Given the description of an element on the screen output the (x, y) to click on. 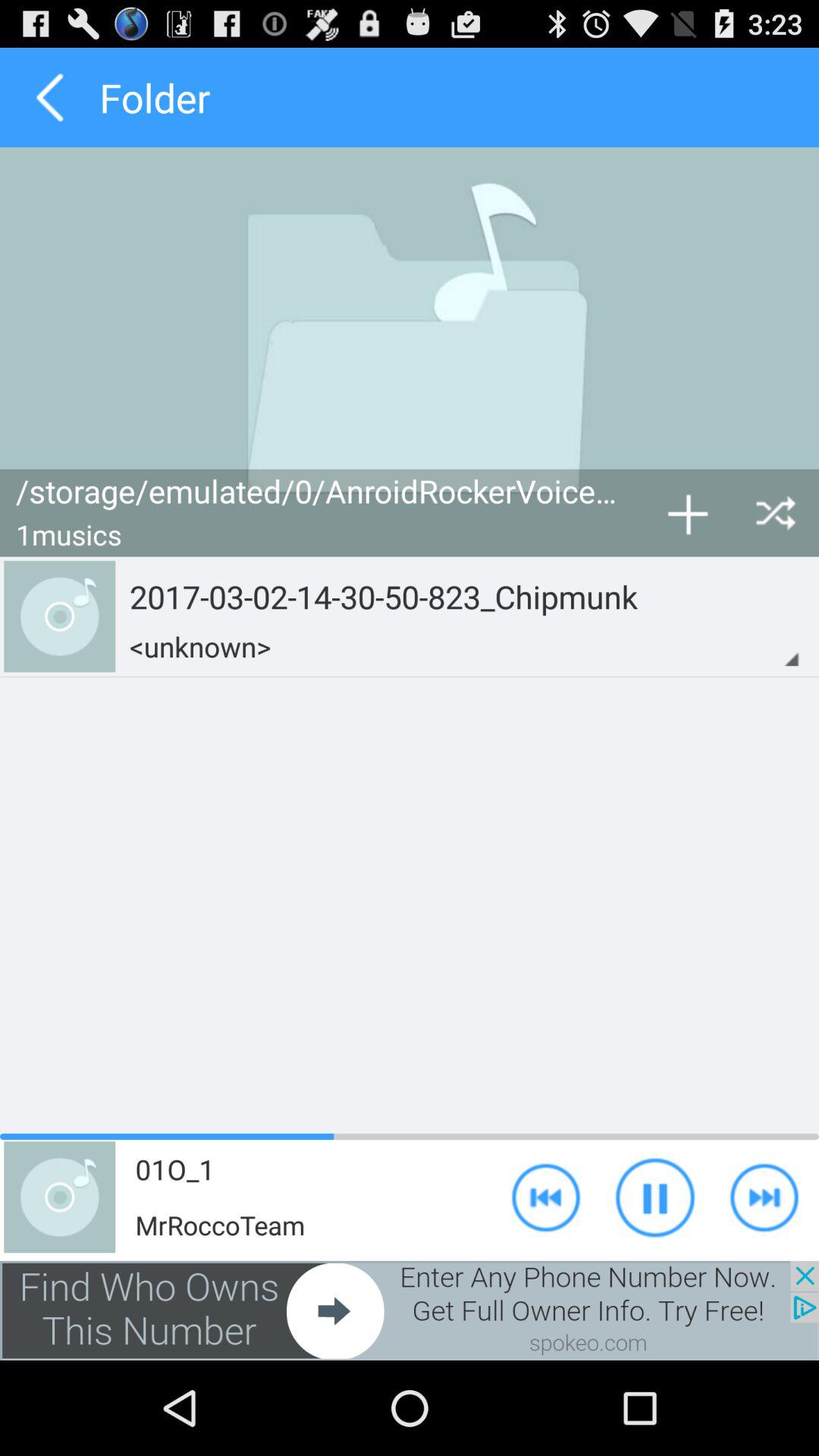
click the play icon button (655, 1197)
click on  (764, 1197)
click on the option  (687, 512)
